Given the description of an element on the screen output the (x, y) to click on. 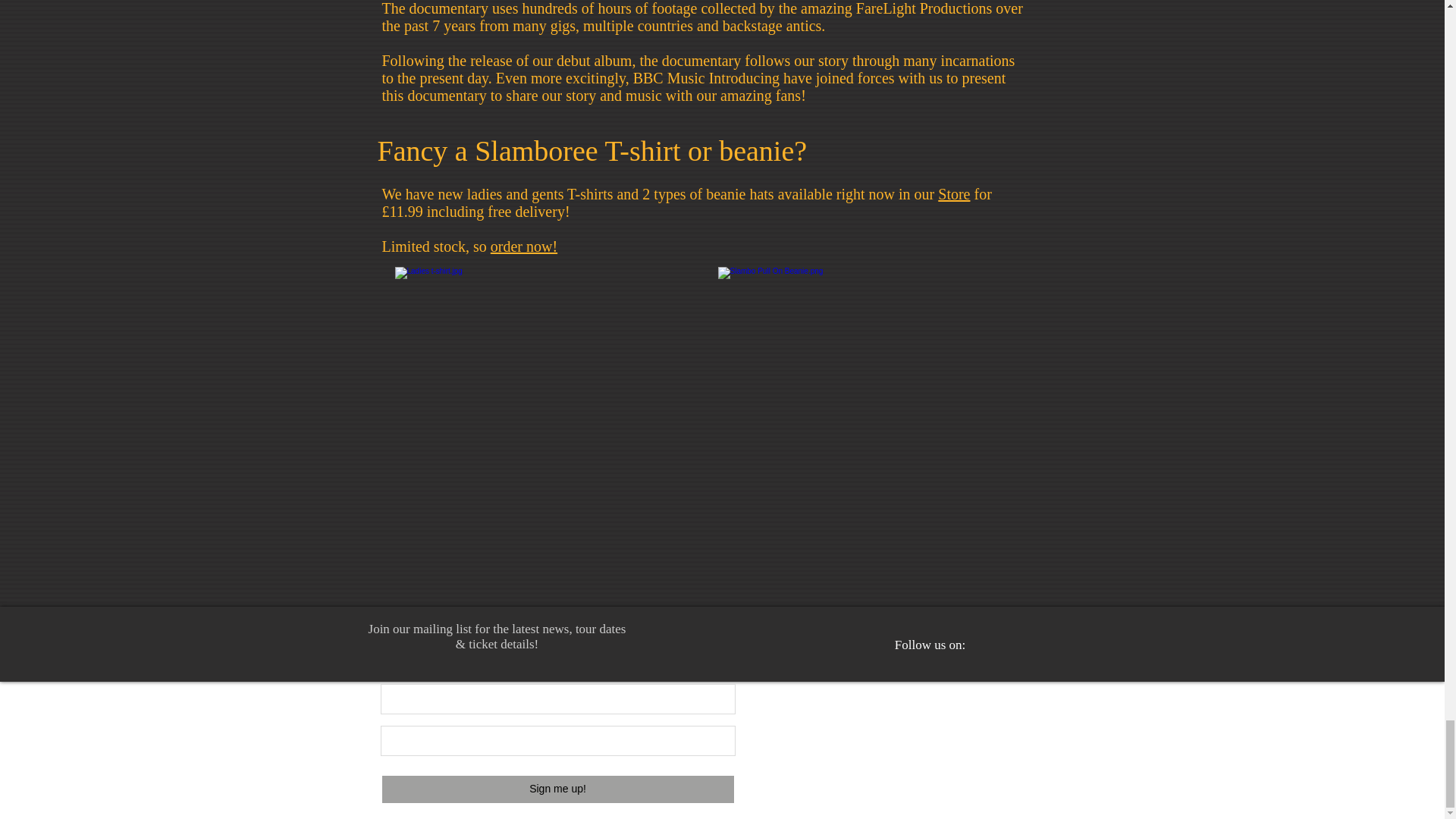
Store (953, 193)
Sign me up! (557, 788)
order now! (523, 246)
